Given the description of an element on the screen output the (x, y) to click on. 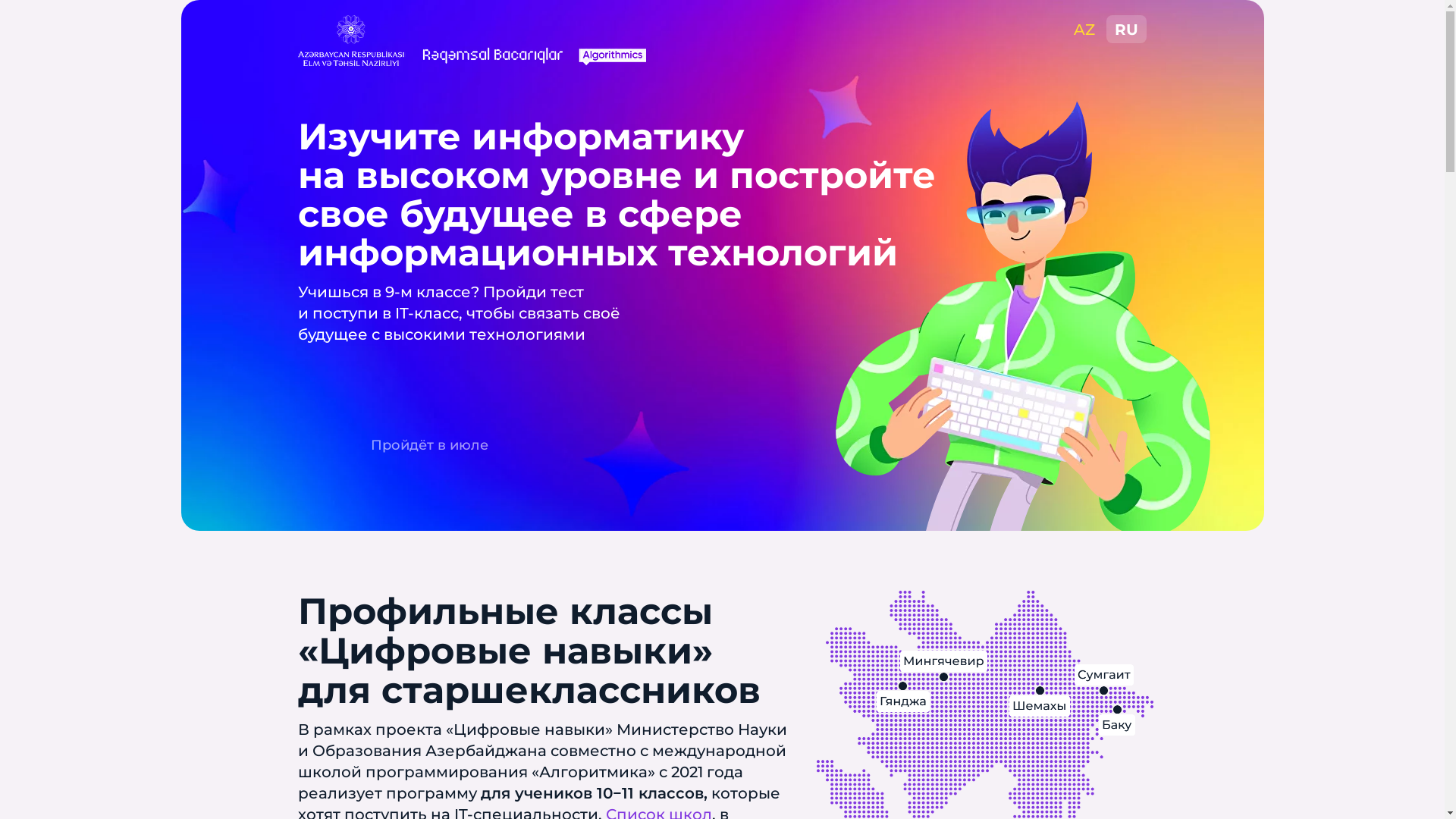
AZ Element type: text (1084, 29)
